Given the description of an element on the screen output the (x, y) to click on. 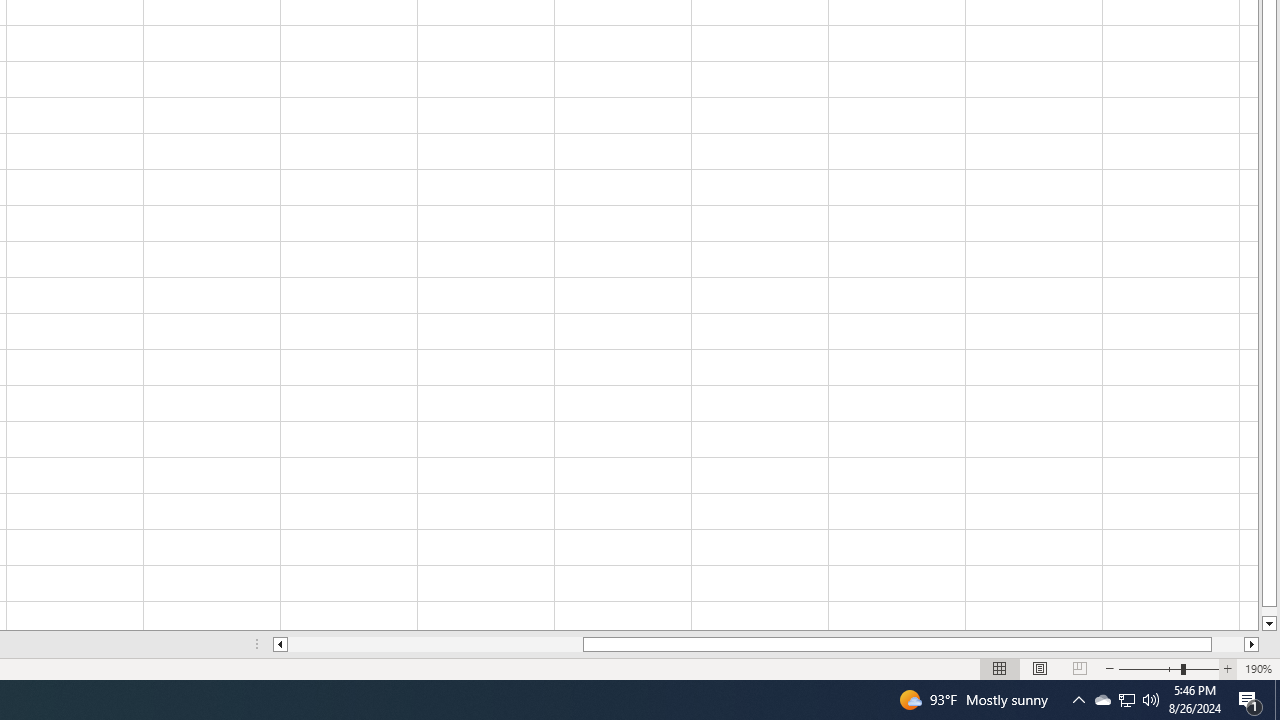
Line down (1268, 624)
Zoom Out (1149, 668)
Page right (1228, 644)
Normal (1000, 668)
Page down (1268, 611)
Page Break Preview (1079, 668)
Column right (1252, 644)
Zoom (1168, 668)
Column left (279, 644)
Class: NetUIScrollBar (765, 644)
Page Layout (1039, 668)
Page left (435, 644)
Zoom In (1227, 668)
